Given the description of an element on the screen output the (x, y) to click on. 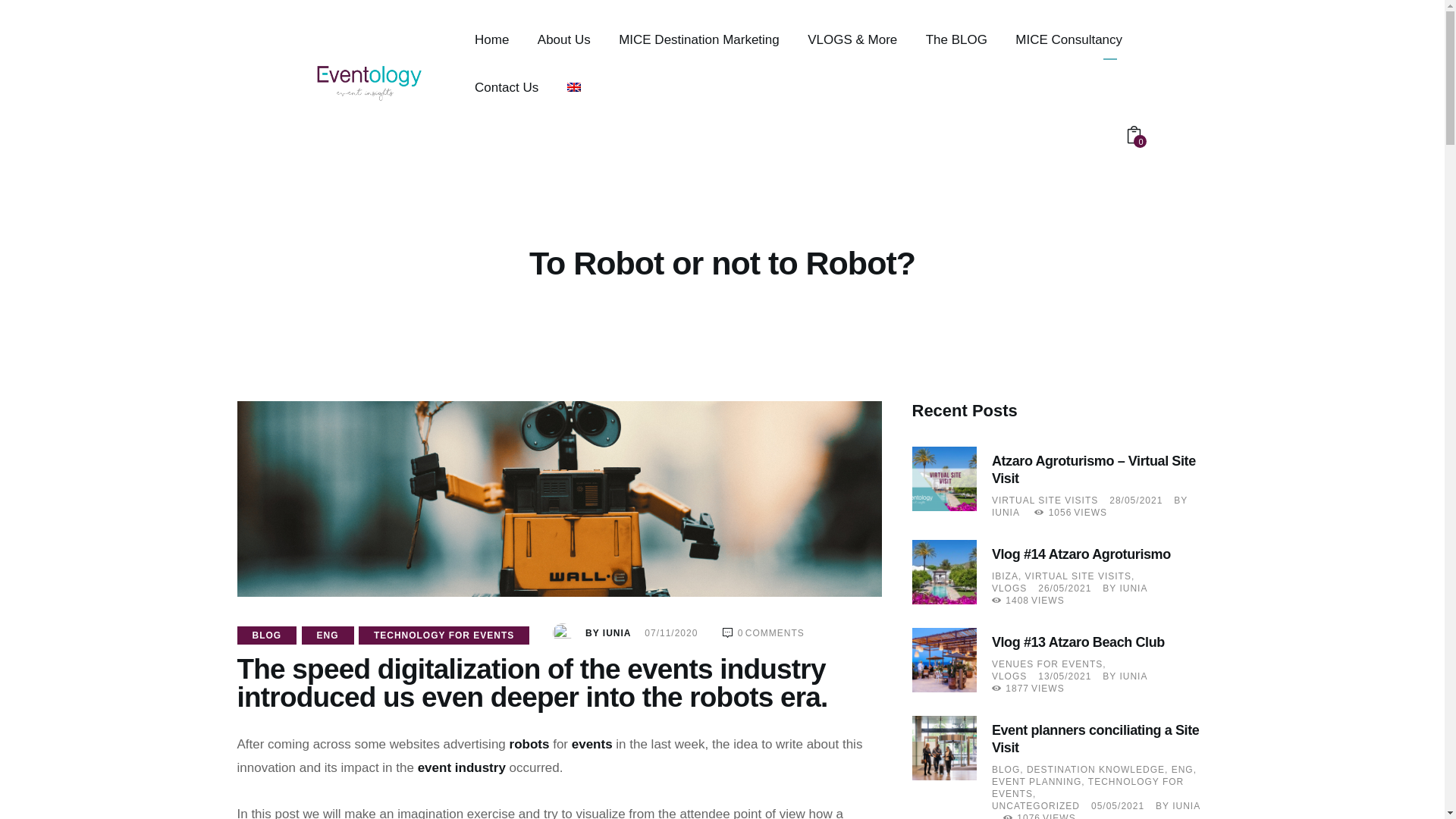
View all posts in Destination Knowledge (1099, 769)
View all posts in Virtual Site Visits (1080, 575)
View all posts in VLOGS (1008, 675)
View all posts in Ibiza (1008, 575)
About Us (563, 39)
View all posts in Virtual Site Visits (1044, 500)
Contact Us (505, 87)
MICE Consultancy (1069, 39)
ENG (327, 635)
BLOG (266, 635)
